Given the description of an element on the screen output the (x, y) to click on. 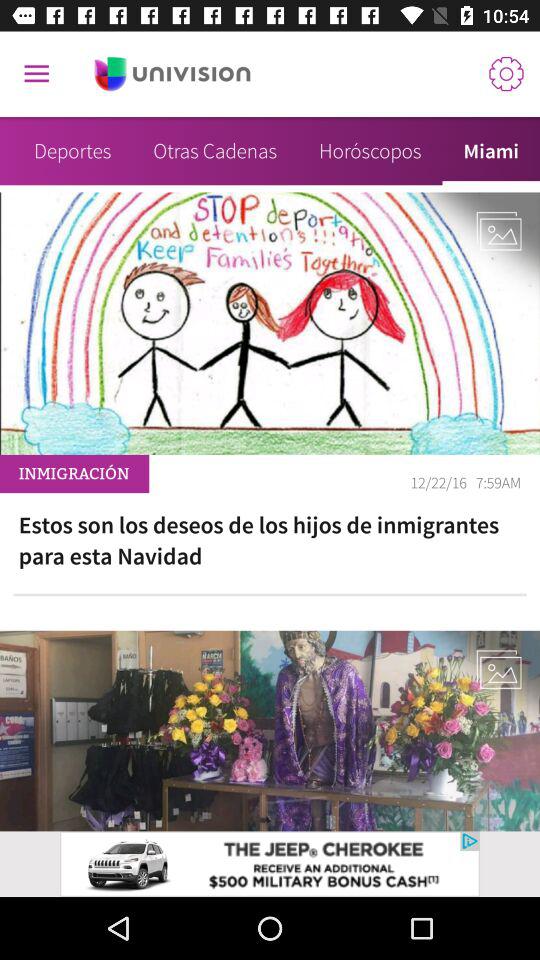
jeep cherokee advertisement (270, 864)
